Given the description of an element on the screen output the (x, y) to click on. 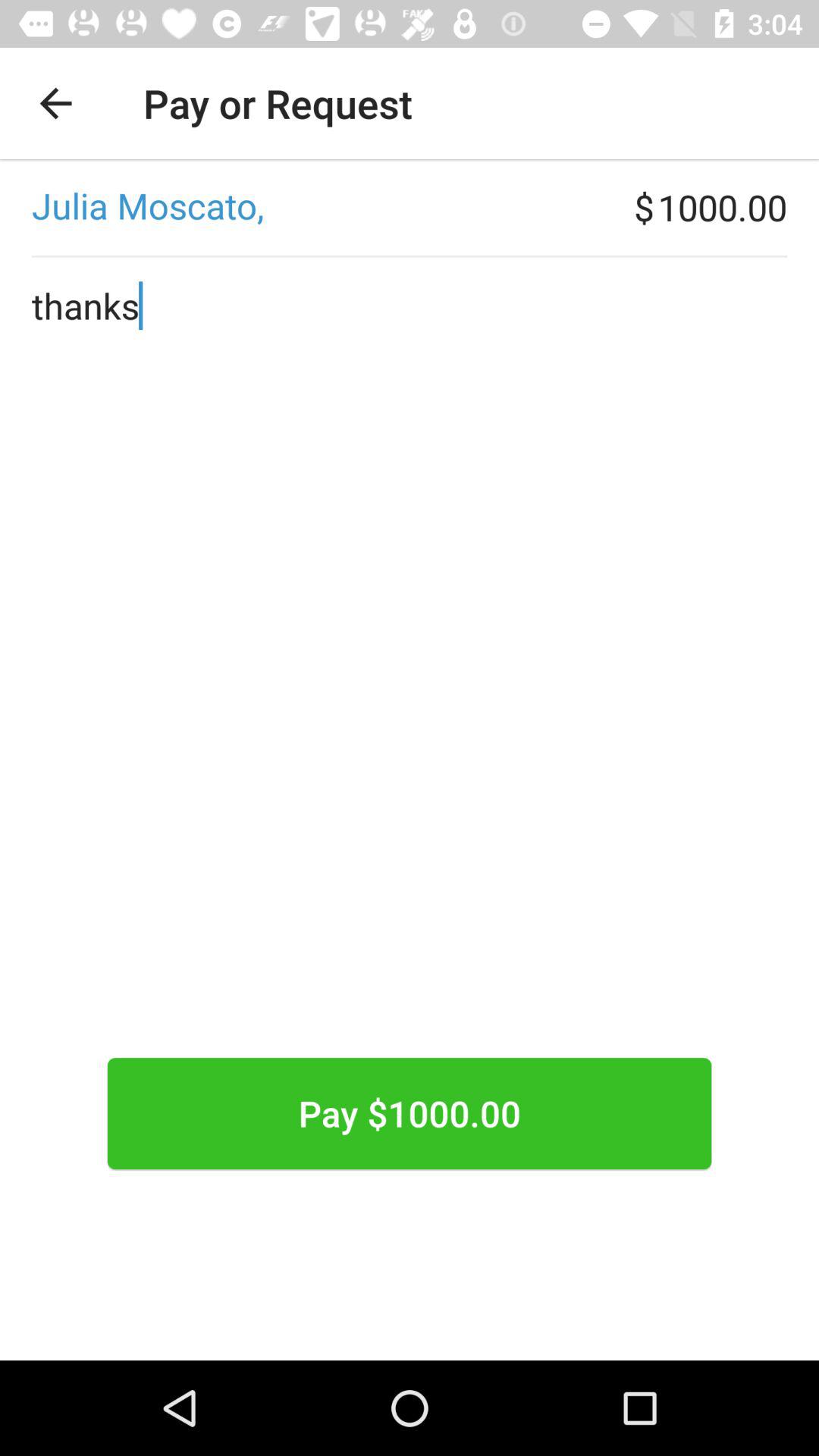
jump until the ,  item (317, 207)
